Given the description of an element on the screen output the (x, y) to click on. 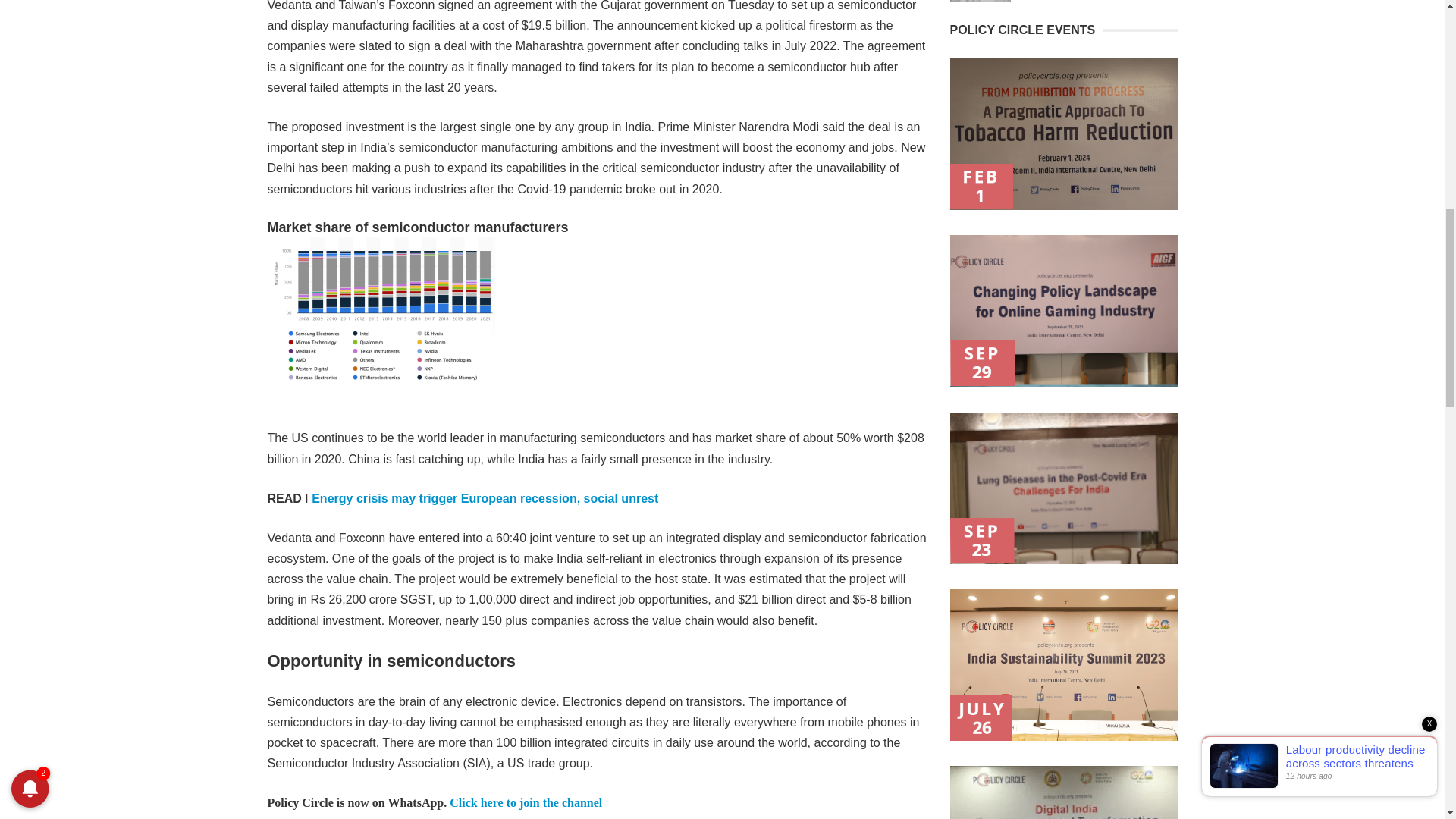
Energy crisis may trigger European recession, social unrest (484, 498)
Click here to join the channel (525, 802)
